Given the description of an element on the screen output the (x, y) to click on. 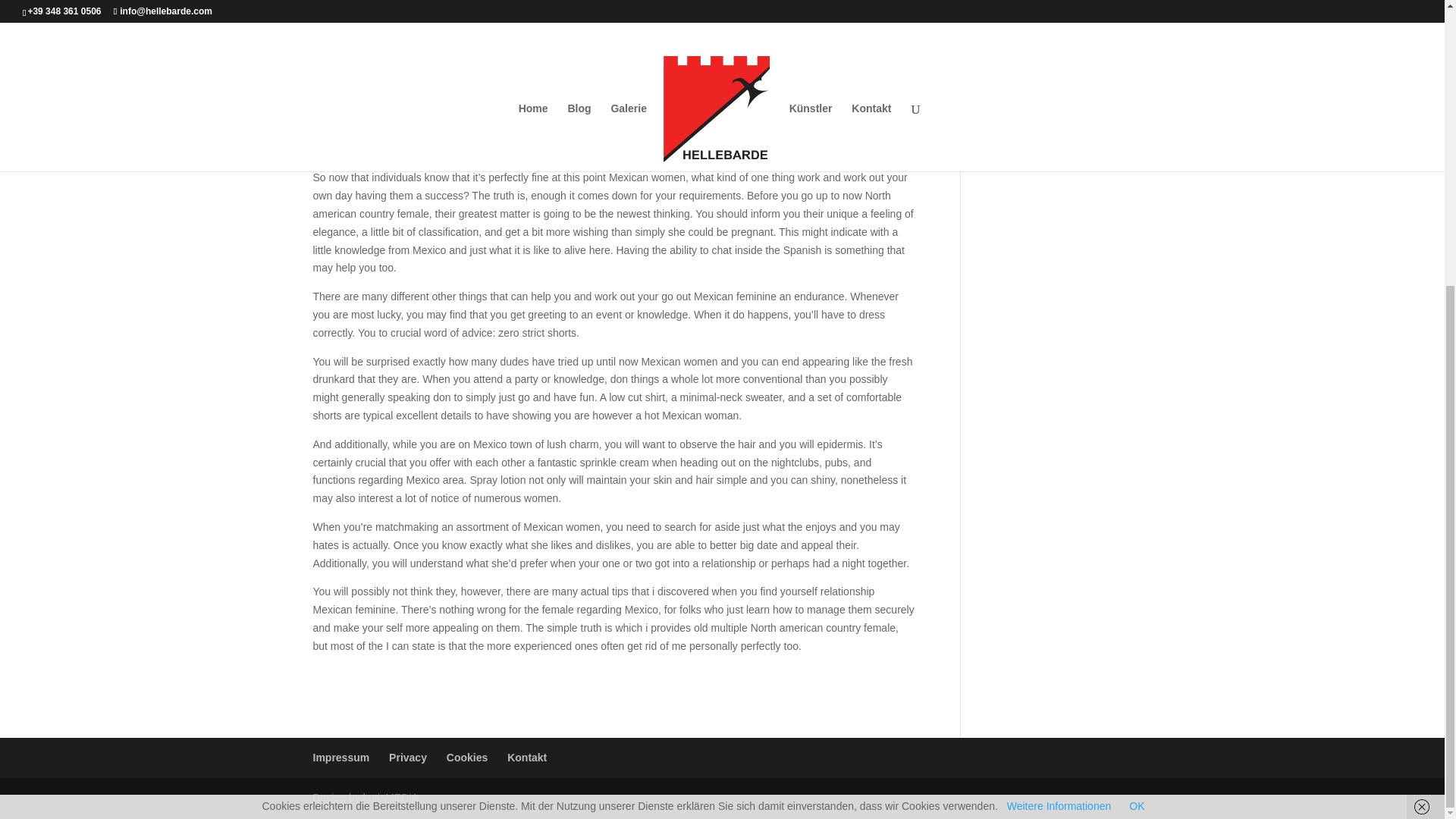
Kontakt (526, 756)
Weitere Informationen (1058, 375)
Impressum (341, 756)
OK (1136, 375)
Privacy (407, 756)
mail brud ordre (412, 82)
Cookies (466, 756)
